Given the description of an element on the screen output the (x, y) to click on. 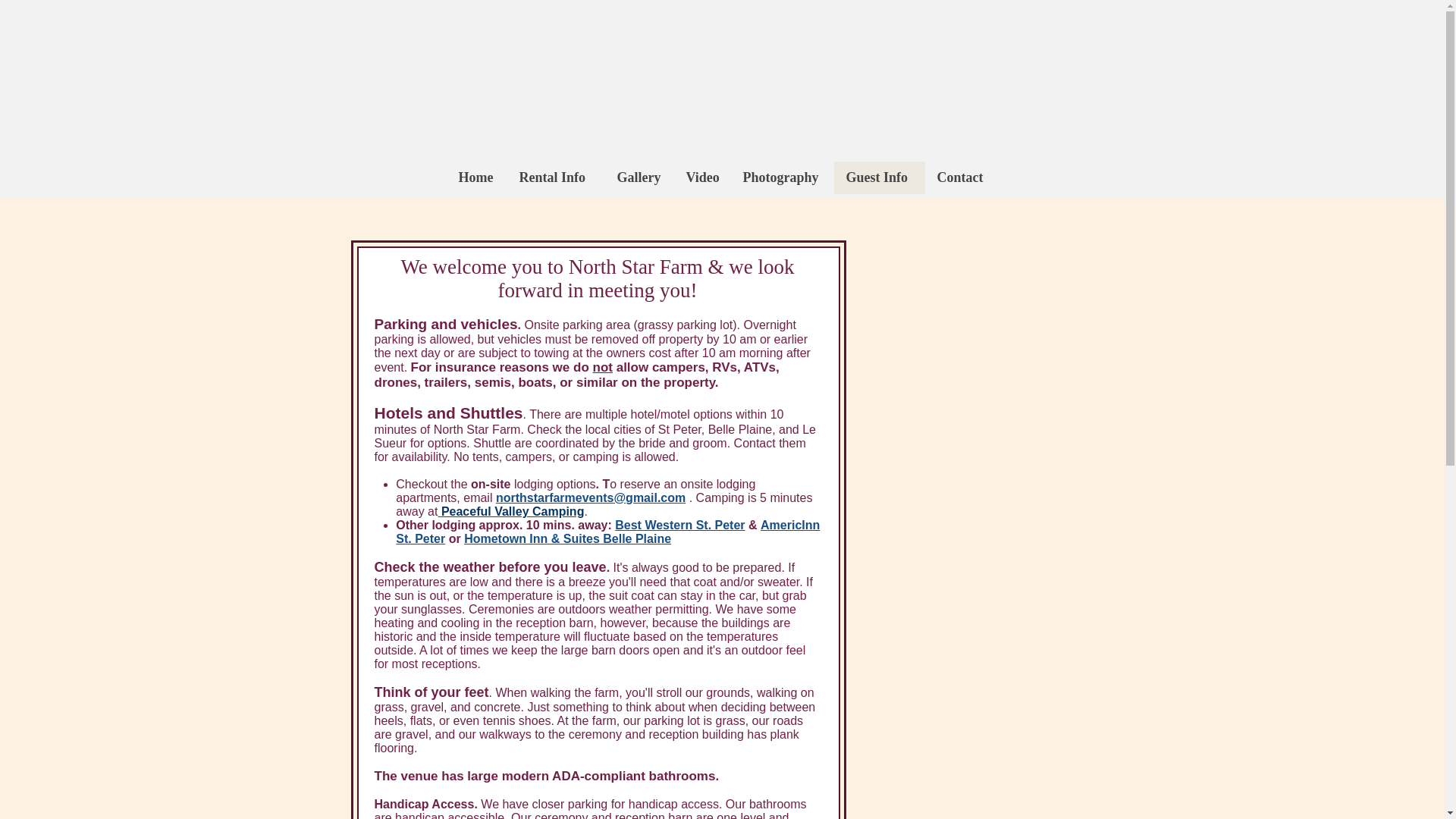
Photography (782, 177)
Rental Info (555, 177)
AmericInn St. Peter  (607, 531)
Contact (961, 177)
Guest Info (879, 177)
Home (475, 177)
Video (701, 177)
Peaceful Valley Camping (510, 511)
Gallery (639, 177)
Best Western St. Peter (681, 524)
